Given the description of an element on the screen output the (x, y) to click on. 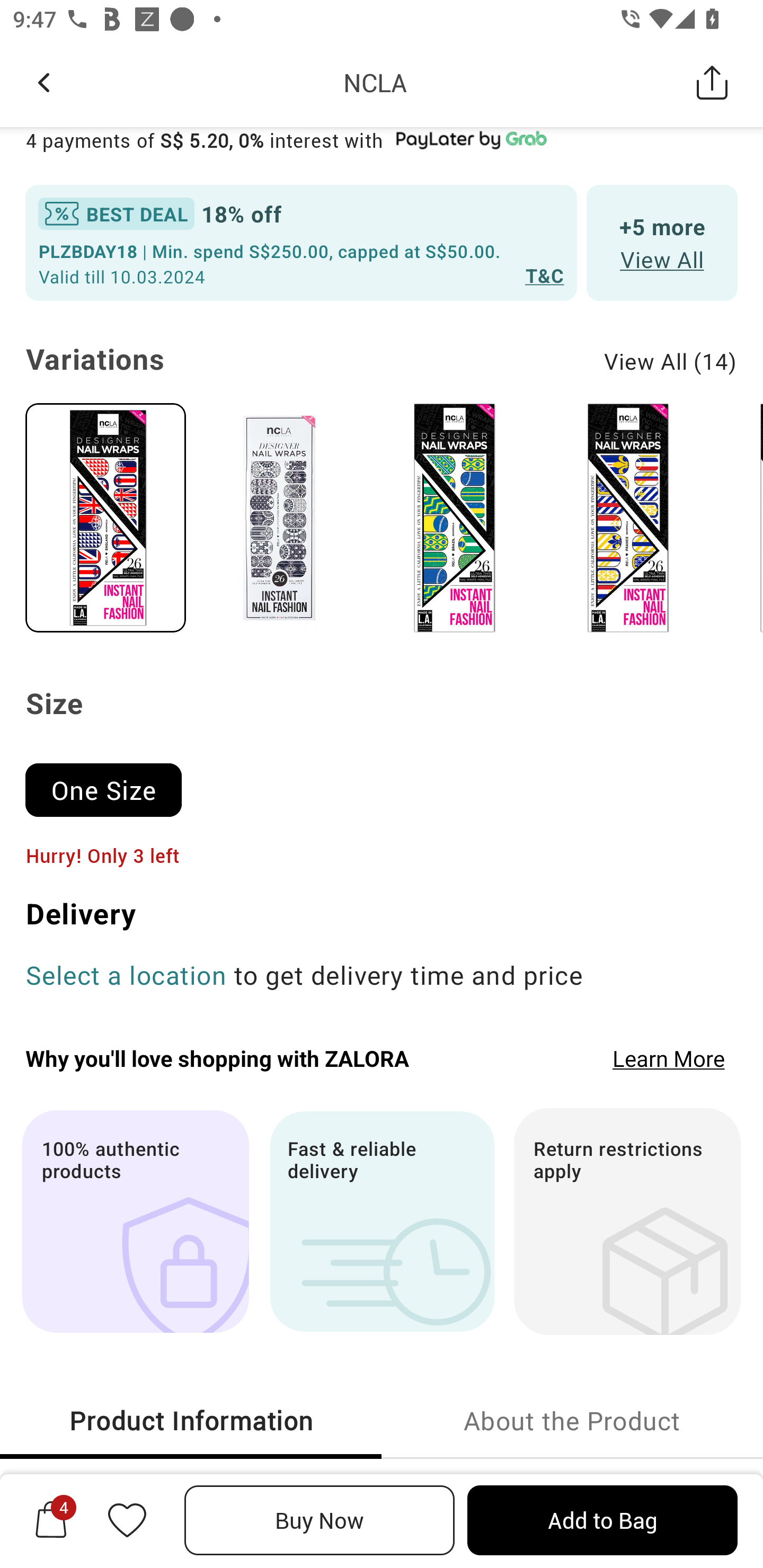
NCLA (375, 82)
Share this Product (711, 82)
+5 more
View All (661, 243)
T&C (544, 274)
View All (14) (670, 361)
One Size (111, 781)
Learn More (668, 1057)
100% authentic products (135, 1221)
Fast & reliable delivery (381, 1221)
Return restrictions apply (627, 1221)
About the Product (572, 1420)
Buy Now (319, 1519)
Add to Bag (601, 1519)
4 (50, 1520)
